Given the description of an element on the screen output the (x, y) to click on. 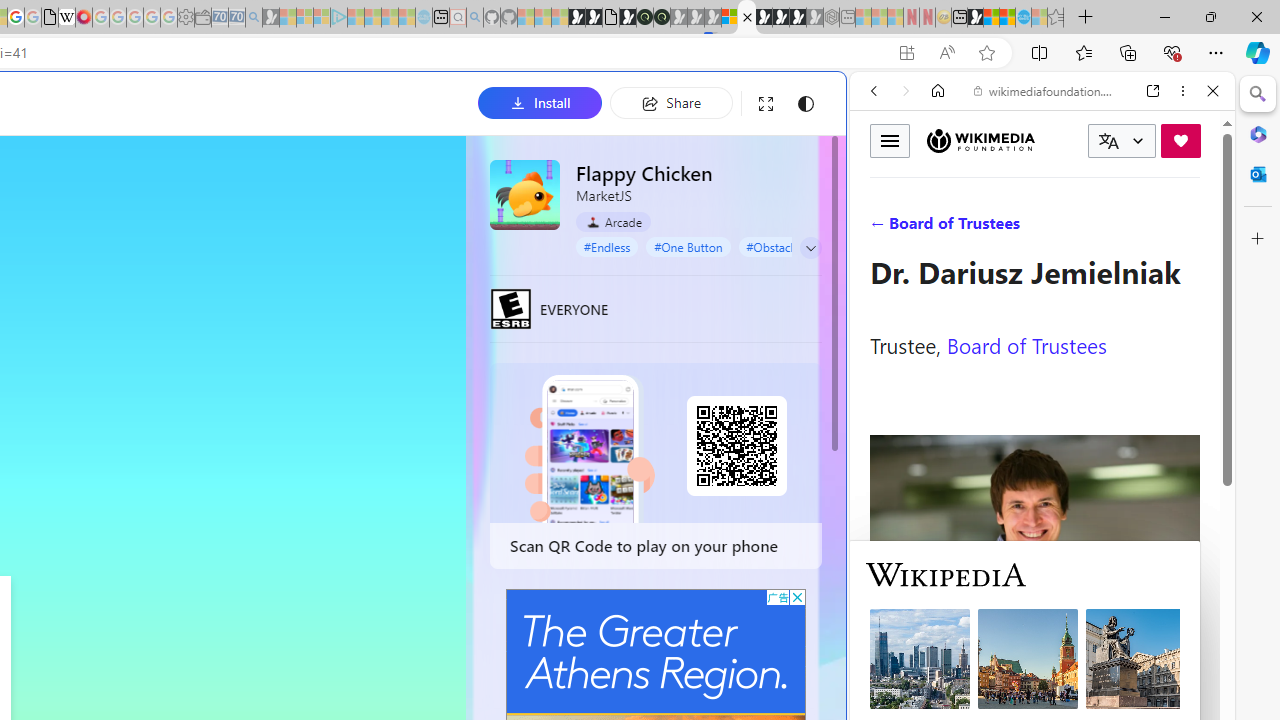
google_privacy_policy_zh-CN.pdf (49, 17)
Microsoft Start Gaming - Sleeping (270, 17)
Flappy Chicken (525, 194)
EVERYONE (511, 308)
Forward (906, 91)
Donate now (1180, 140)
Services - Maintenance | Sky Blue Bikes - Sky Blue Bikes (1023, 17)
